Given the description of an element on the screen output the (x, y) to click on. 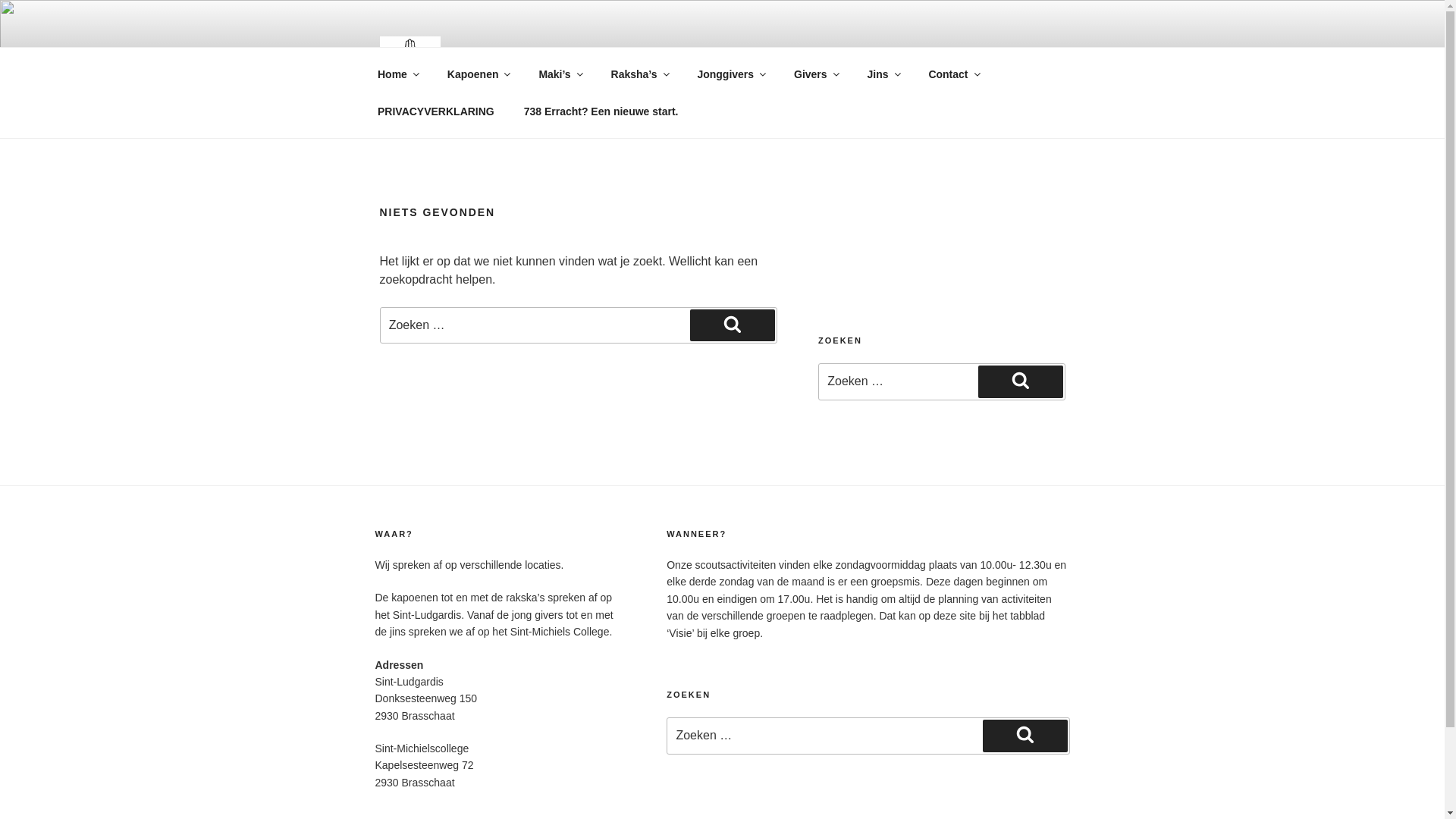
Jins Element type: text (882, 74)
Givers Element type: text (816, 74)
Jonggivers Element type: text (731, 74)
738 ERRACHT Element type: text (572, 59)
Zoeken Element type: text (732, 325)
PRIVACYVERKLARING Element type: text (435, 110)
738 Erracht? Een nieuwe start. Element type: text (600, 110)
Contact Element type: text (953, 74)
Kapoenen Element type: text (477, 74)
Zoeken Element type: text (1024, 735)
Zoeken Element type: text (1020, 381)
Home Element type: text (397, 74)
